Given the description of an element on the screen output the (x, y) to click on. 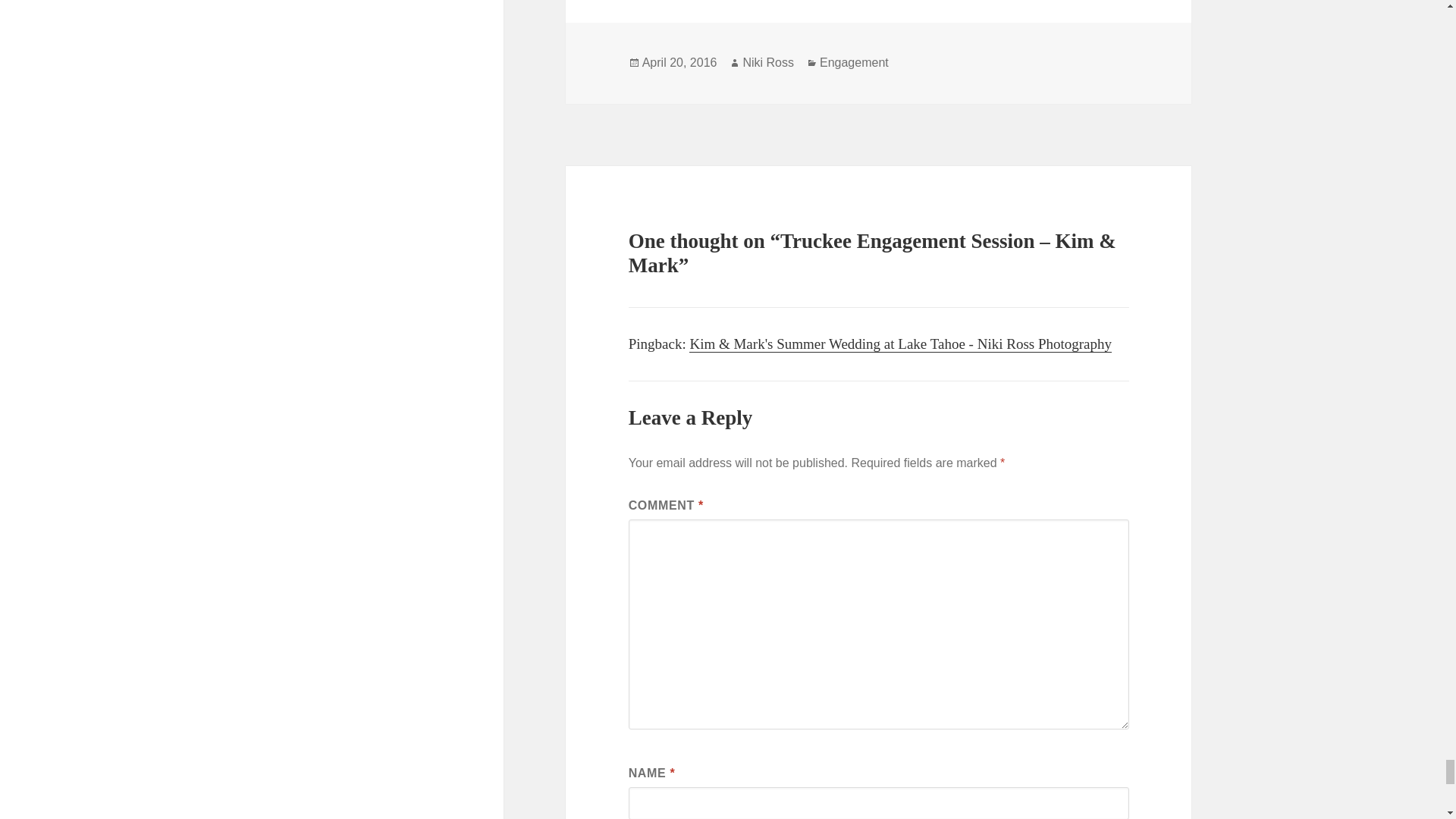
Engagement (853, 62)
April 20, 2016 (679, 62)
Niki Ross (767, 62)
